Given the description of an element on the screen output the (x, y) to click on. 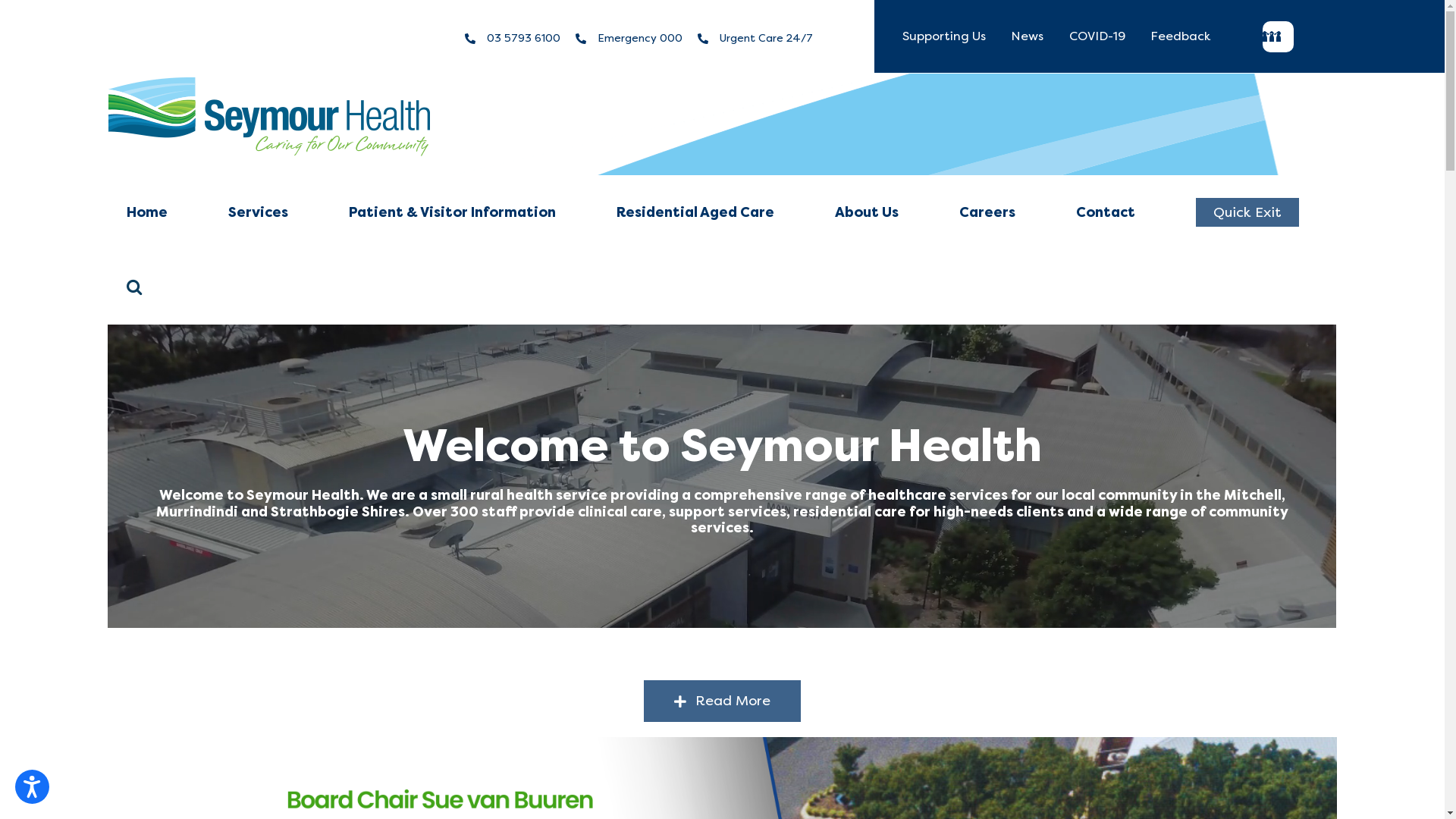
Search Element type: hover (133, 286)
Feedback Element type: text (1180, 35)
Residential Aged Care Element type: text (695, 212)
Patient & Visitor Information Element type: text (452, 212)
Quick Exit Element type: text (1247, 212)
COVID-19 Element type: text (1097, 35)
Urgent Care 24/7 Element type: text (765, 37)
Careers Element type: text (987, 212)
Read More Element type: text (722, 700)
Services Element type: text (258, 212)
03 5793 6100 Element type: text (523, 37)
Contact Element type: text (1105, 212)
About Us Element type: text (866, 212)
Supporting Us Element type: text (943, 35)
News Element type: text (1026, 35)
Emergency 000 Element type: text (639, 37)
Home Element type: text (146, 212)
